Given the description of an element on the screen output the (x, y) to click on. 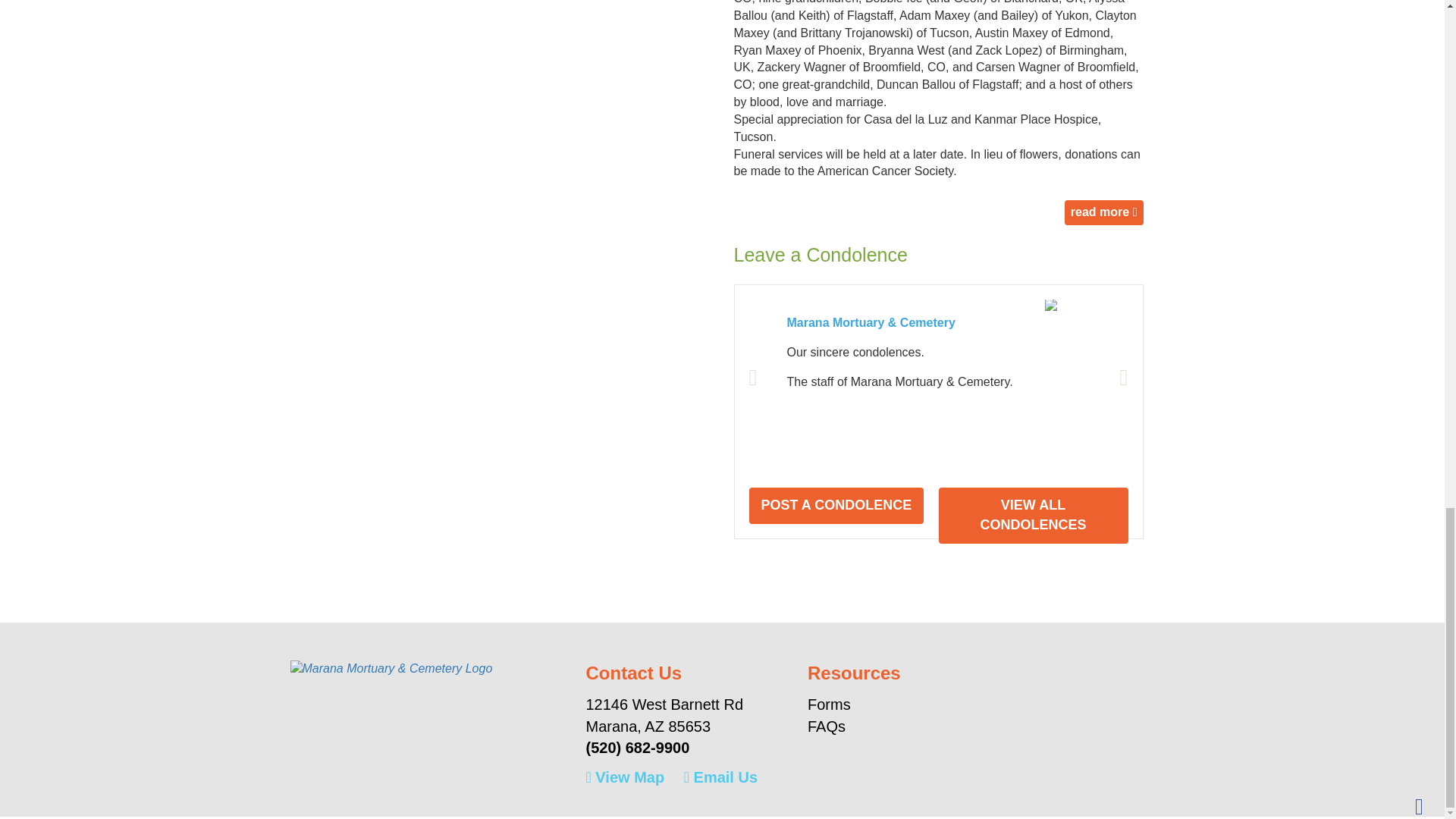
Forms (870, 704)
FAQs (870, 726)
Post a Condolence (836, 505)
